Given the description of an element on the screen output the (x, y) to click on. 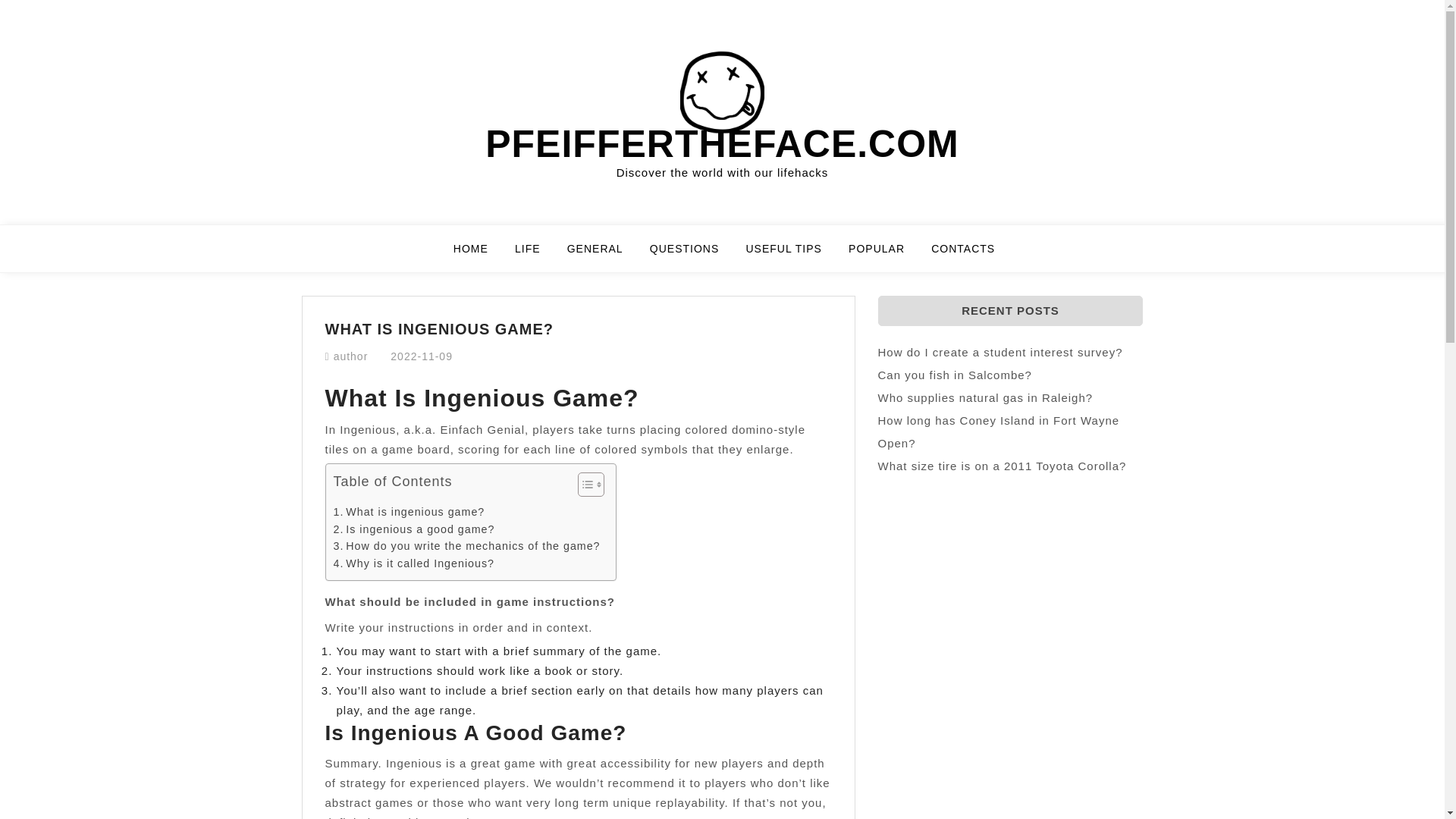
Why is it called Ingenious? (414, 563)
PFEIFFERTHEFACE.COM (721, 143)
Email (5, 93)
How do you write the mechanics of the game? (466, 546)
How do you write the mechanics of the game? (466, 546)
author (350, 356)
POPULAR (885, 255)
USEFUL TIPS (792, 255)
What is ingenious game? (408, 511)
Who supplies natural gas in Raleigh? (985, 397)
Twitter (5, 87)
QUESTIONS (693, 255)
CONTACTS (962, 255)
GENERAL (604, 255)
LIFE (537, 255)
